Given the description of an element on the screen output the (x, y) to click on. 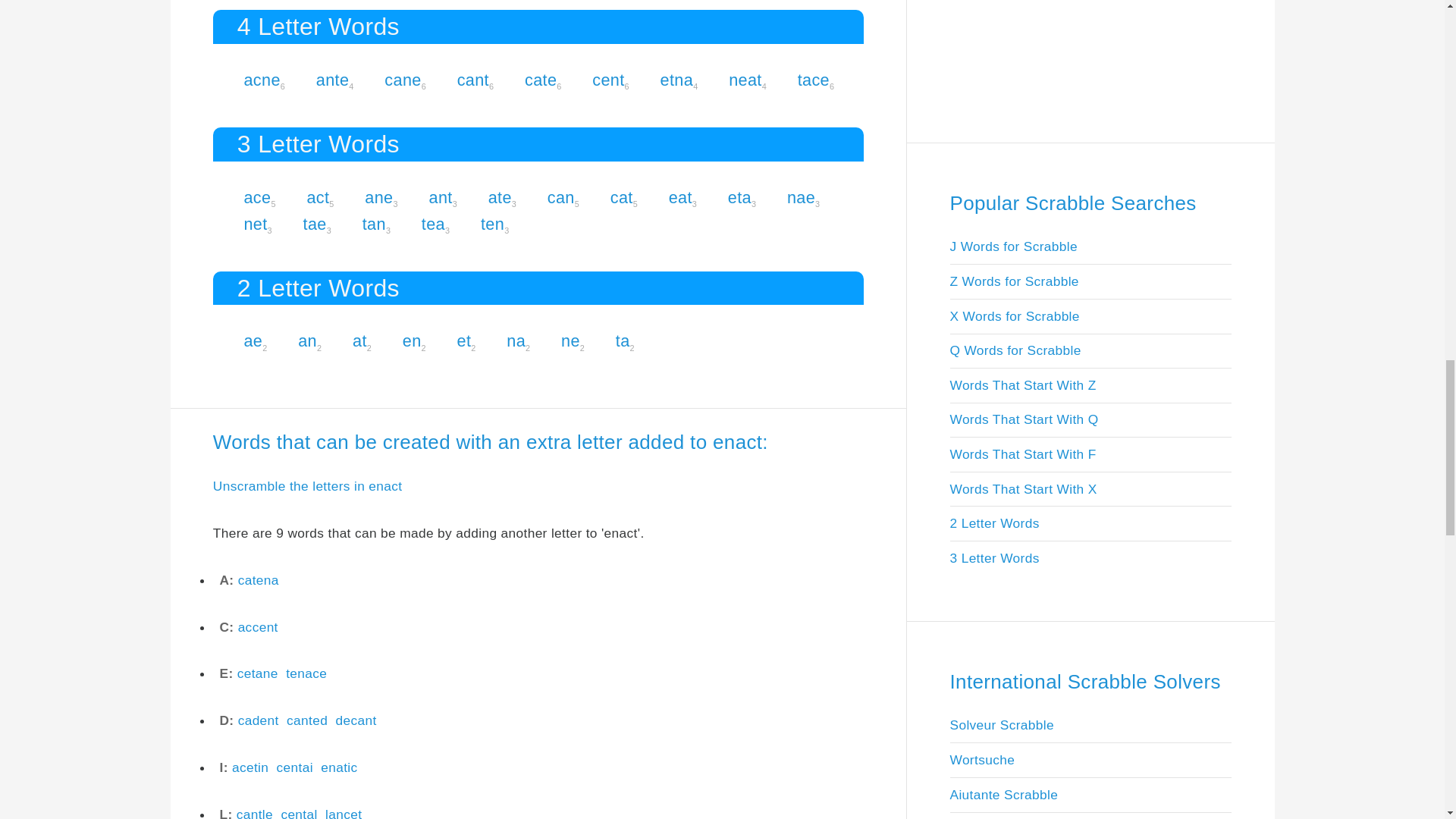
cant (473, 79)
cate (540, 79)
cane (402, 79)
acne (261, 79)
ante (332, 79)
cent (608, 79)
